Given the description of an element on the screen output the (x, y) to click on. 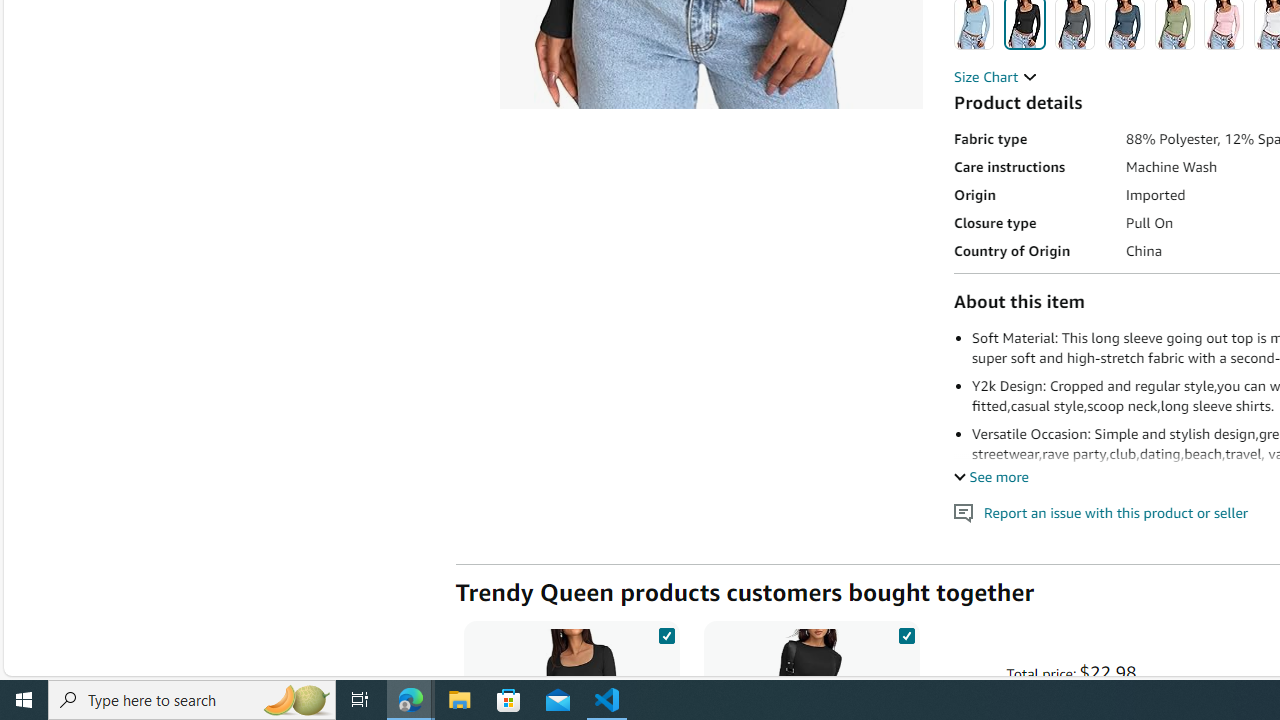
Size Chart  (995, 76)
AutomationID: thematicBundleCheck-2 (906, 632)
AutomationID: thematicBundleCheck-1 (665, 632)
Report an issue with this product or seller (963, 512)
